Given the description of an element on the screen output the (x, y) to click on. 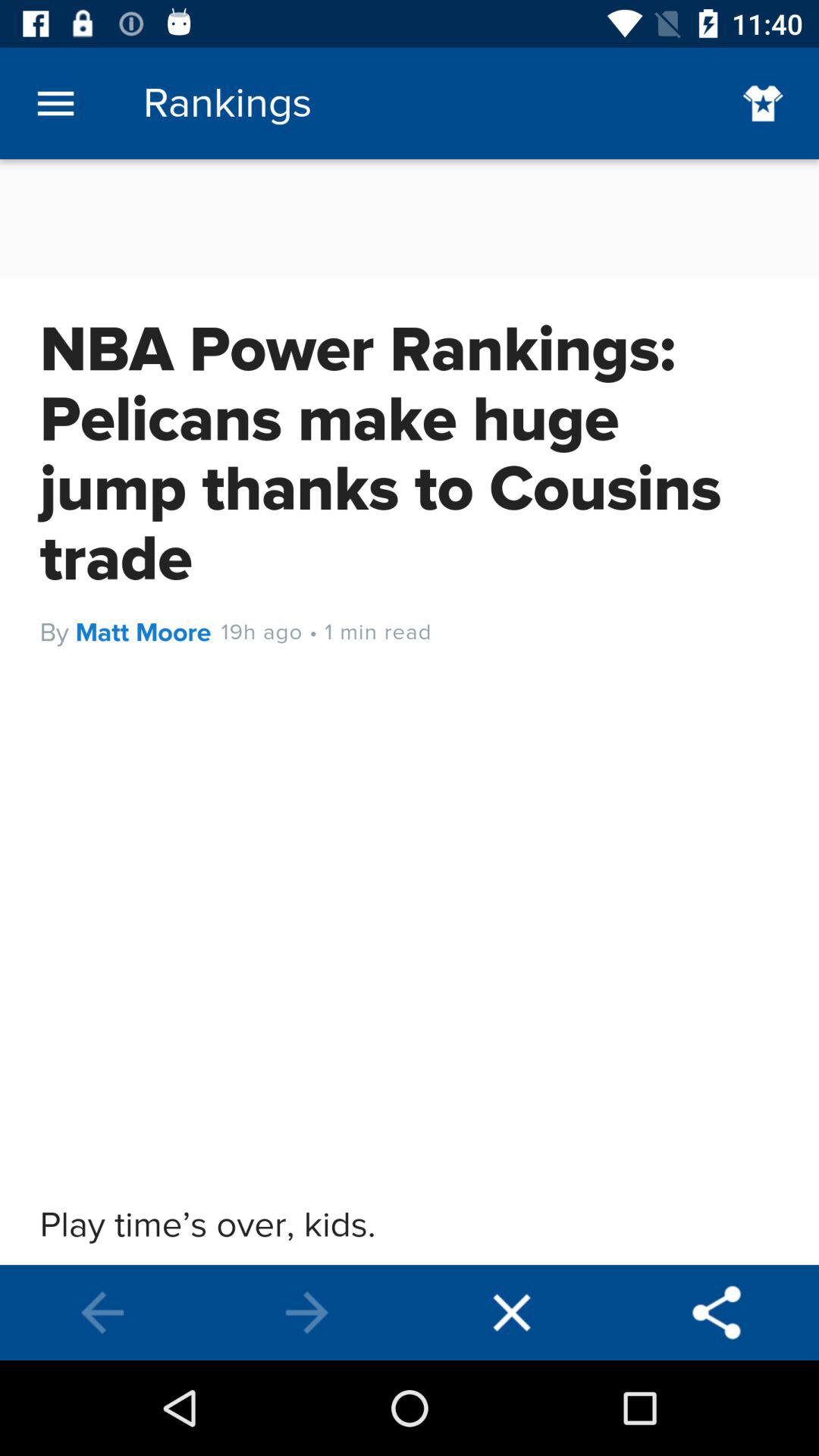
previou putton (306, 1312)
